Given the description of an element on the screen output the (x, y) to click on. 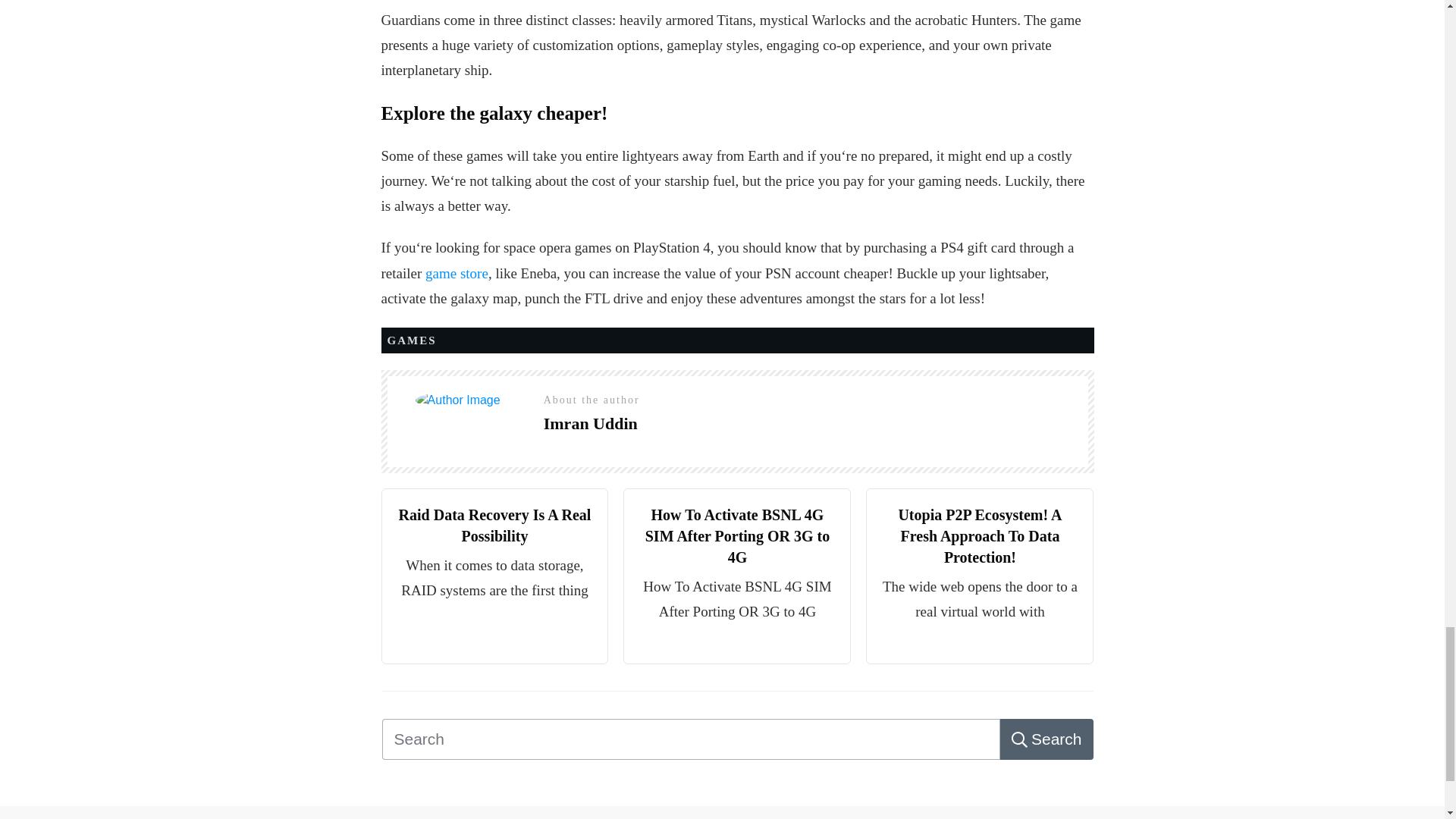
GAMES (411, 340)
How To Activate BSNL 4G SIM After Porting OR 3G to 4G (737, 535)
Raid Data Recovery Is A Real Possibility (494, 525)
Search (1046, 739)
game store (456, 273)
GAMES (411, 340)
Raid Data Recovery Is A Real Possibility (494, 525)
Utopia P2P Ecosystem! A Fresh Approach To Data Protection! (979, 535)
Utopia P2P Ecosystem! A Fresh Approach To Data Protection! (979, 535)
How To Activate BSNL 4G SIM After Porting OR 3G to 4G (737, 535)
